Given the description of an element on the screen output the (x, y) to click on. 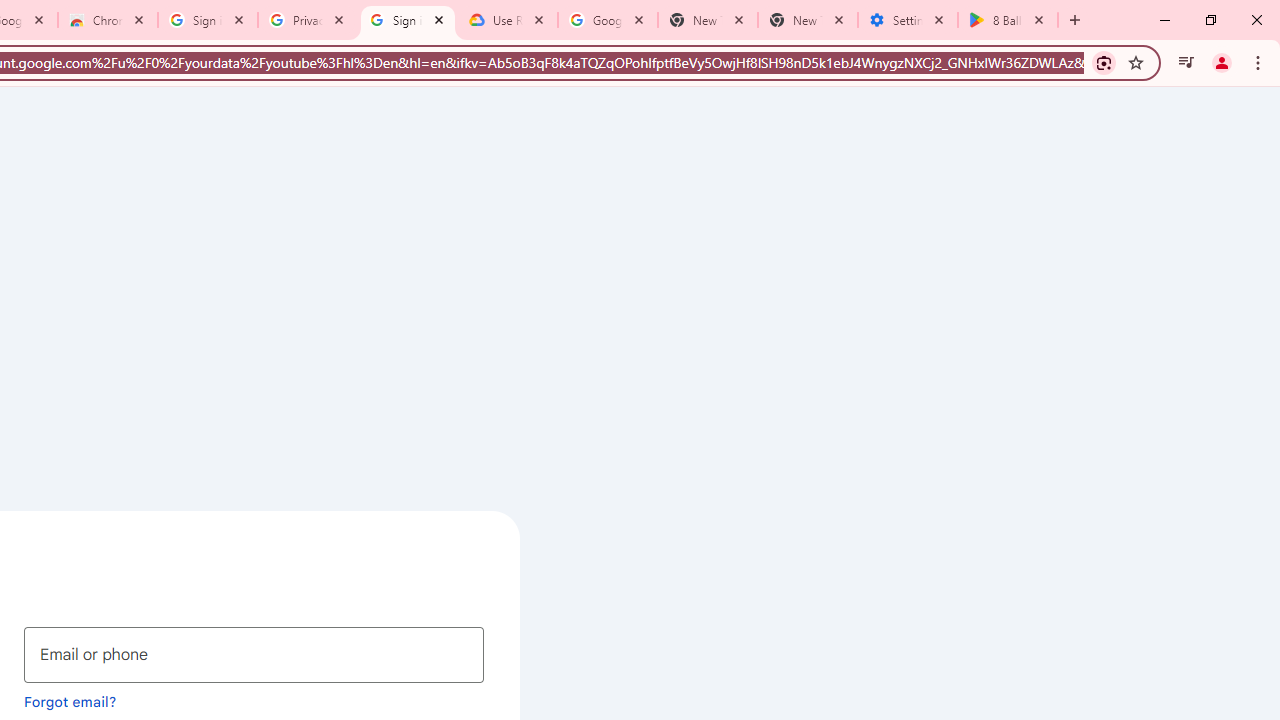
New Tab (807, 20)
Sign in - Google Accounts (207, 20)
Sign in - Google Accounts (408, 20)
8 Ball Pool - Apps on Google Play (1007, 20)
Control your music, videos, and more (1185, 62)
Forgot email? (70, 701)
Settings - System (907, 20)
